Given the description of an element on the screen output the (x, y) to click on. 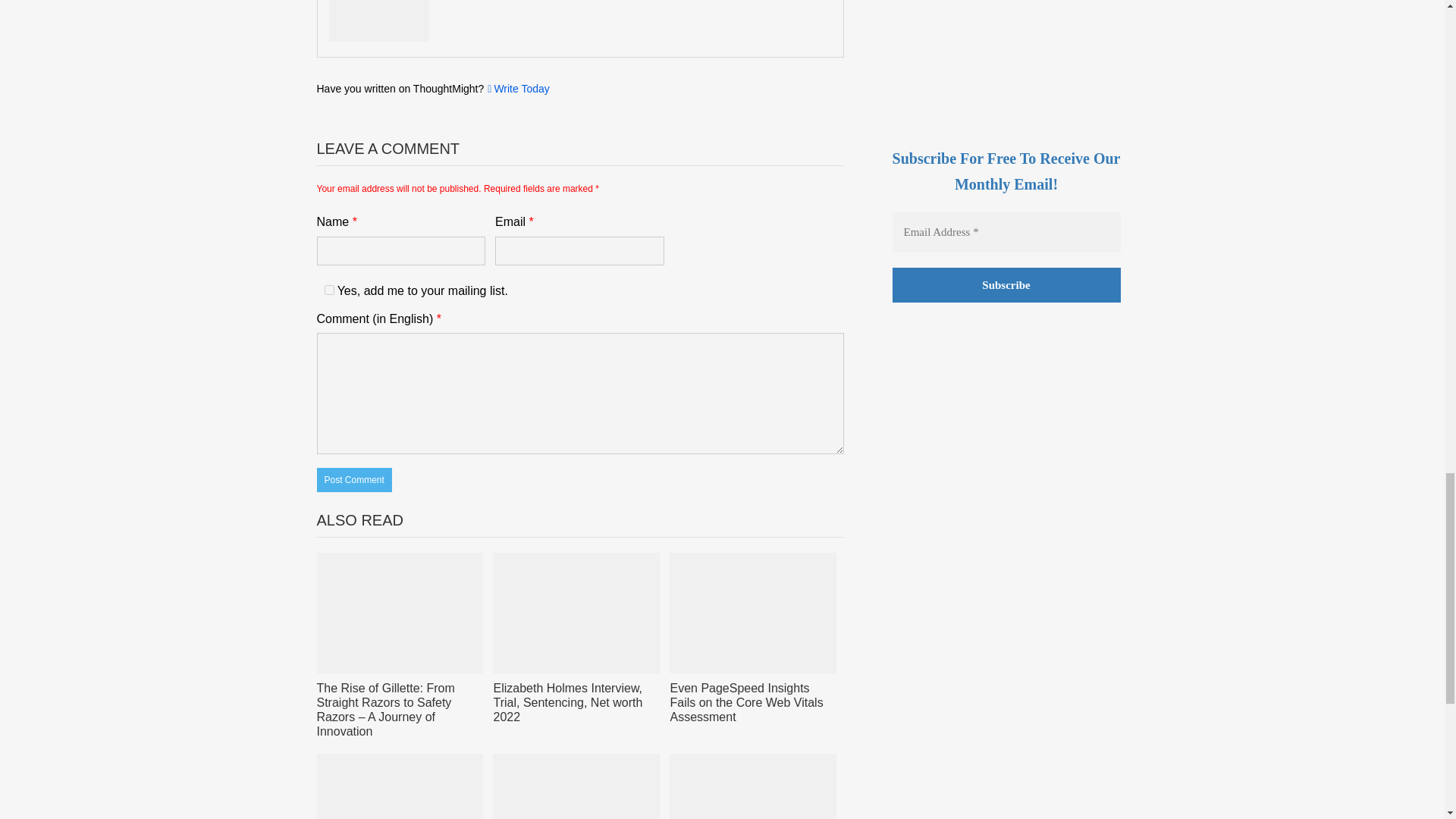
Subscribe (1005, 285)
1 (329, 289)
What Google Knows About You (400, 786)
Post Comment (354, 479)
Write Today (516, 88)
Post Comment (354, 479)
